Given the description of an element on the screen output the (x, y) to click on. 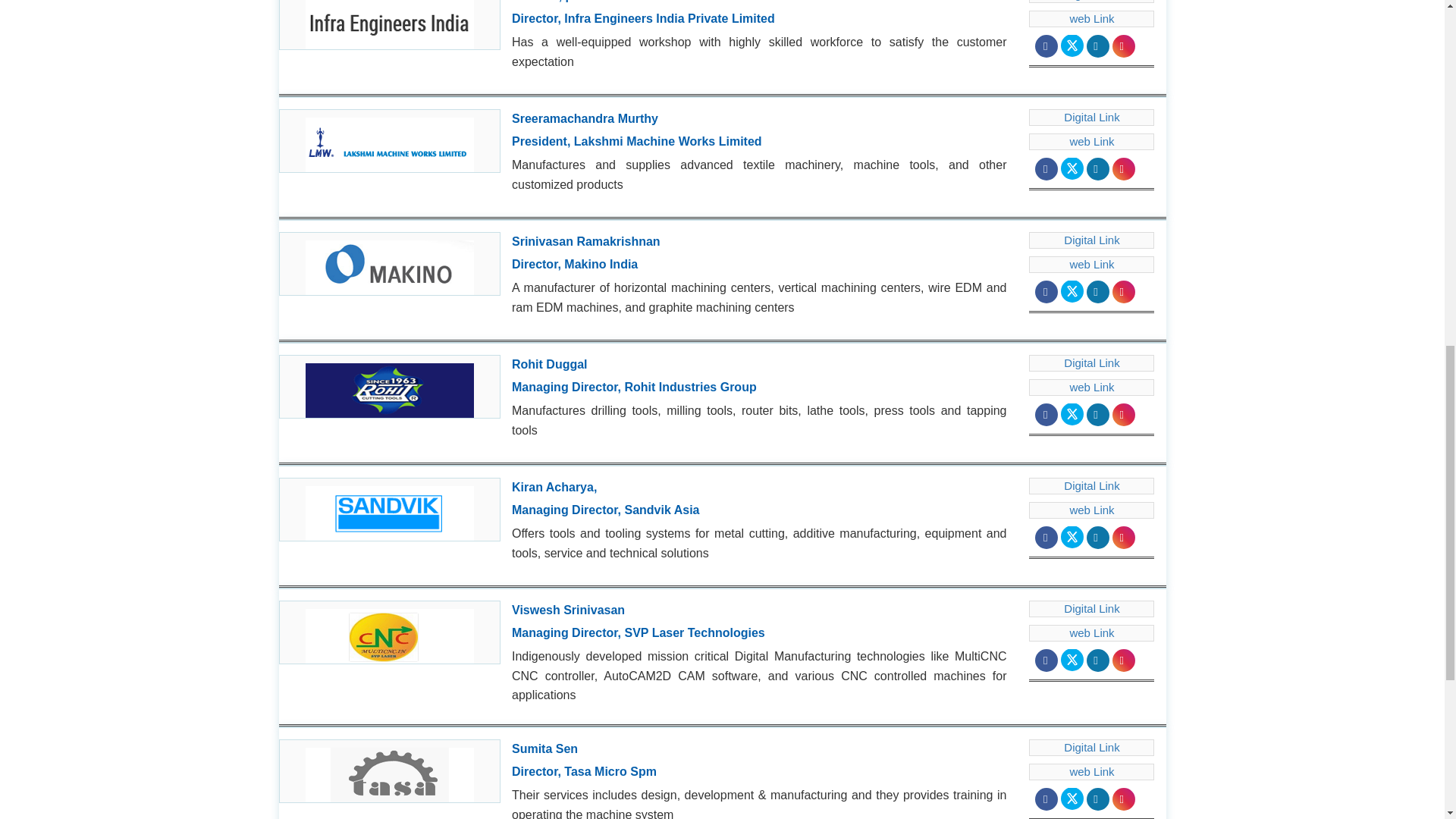
Makino India (389, 263)
Infra Engineers India Private Limited (389, 24)
Lakshmi Machine Works Limited (389, 140)
Rohit Industries Group (389, 386)
Sandvik Asia (389, 509)
SVP Laser Technologies (389, 632)
Tasa Micro Spm (389, 771)
